Given the description of an element on the screen output the (x, y) to click on. 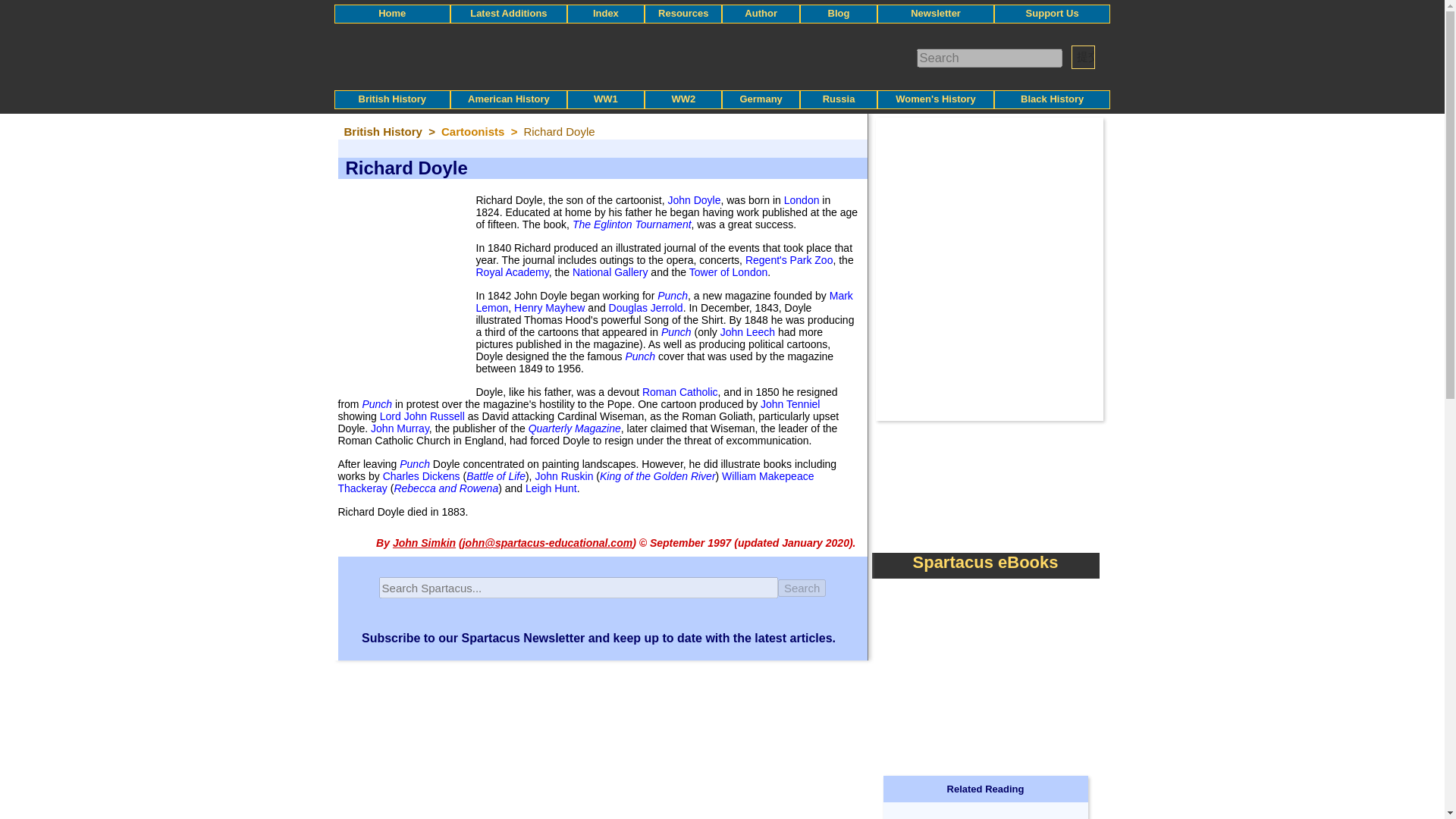
Roman Catholic (679, 391)
Author (760, 12)
WW2 (683, 98)
WW1 (605, 98)
Punch (676, 331)
British History (392, 98)
Punch (639, 356)
Black History (1051, 98)
Regent's Park Zoo (788, 259)
Russia (839, 98)
Newsletter (935, 12)
London (801, 200)
Lord John Russell (422, 416)
John Tenniel (789, 404)
John Doyle (693, 200)
